Given the description of an element on the screen output the (x, y) to click on. 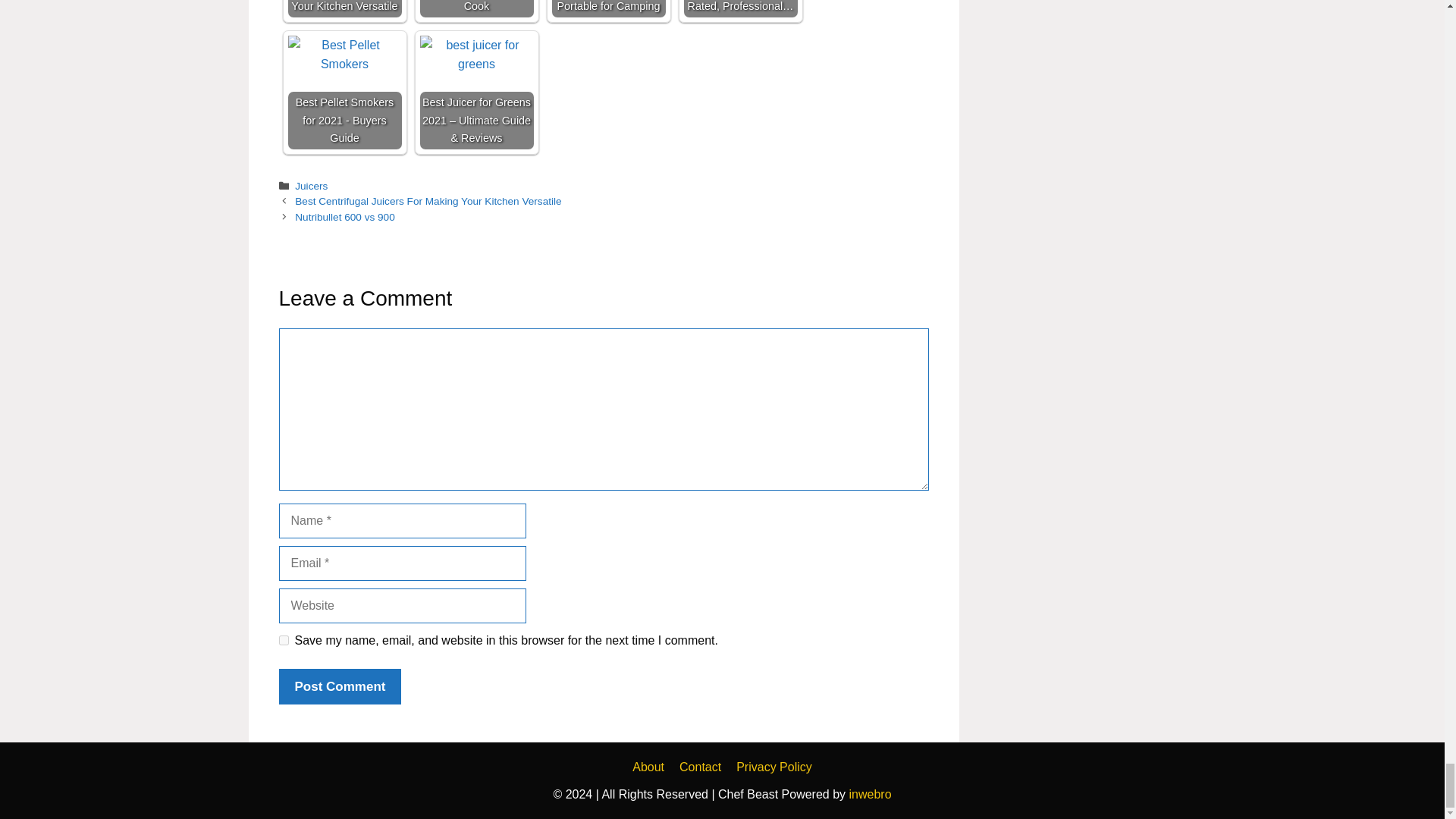
yes (283, 640)
Post Comment (340, 687)
